Given the description of an element on the screen output the (x, y) to click on. 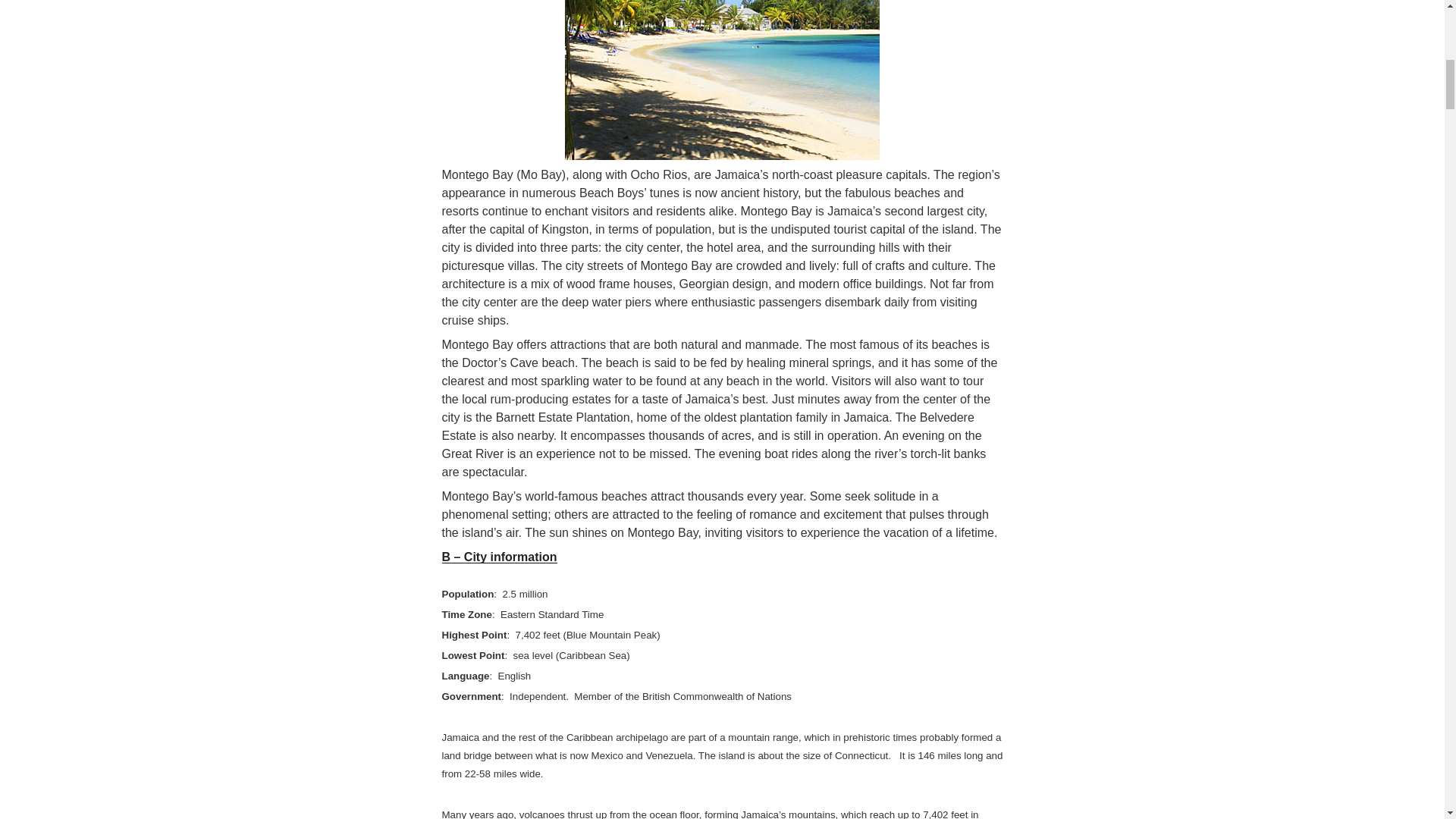
montego bay overview (721, 79)
